Given the description of an element on the screen output the (x, y) to click on. 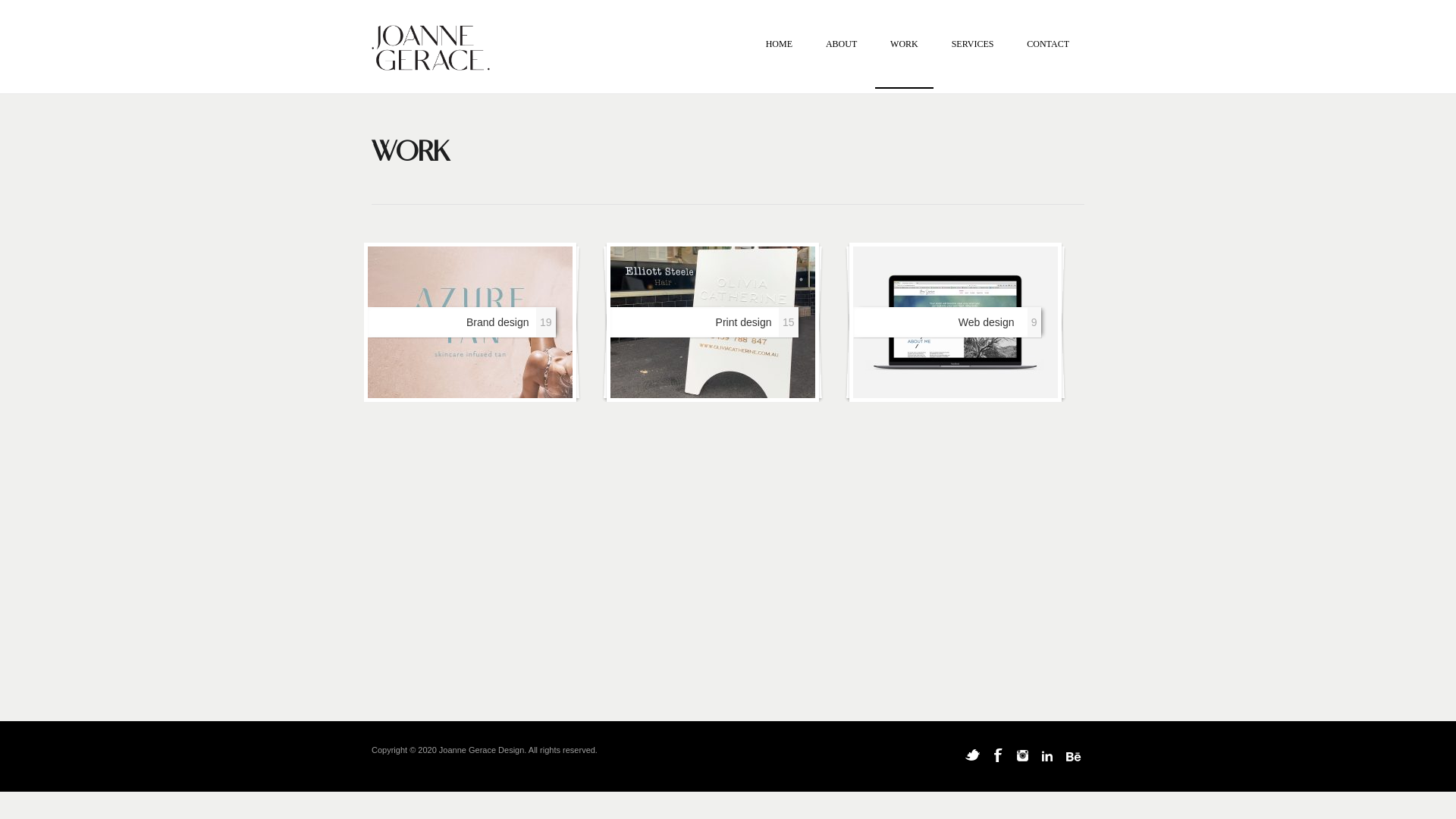
HOME Element type: text (778, 62)
SERVICES Element type: text (972, 62)
www.annaseverino.com.au Element type: hover (955, 322)
Savour Sicily Element type: hover (952, 318)
ABOUT Element type: text (841, 62)
Olivia Catherine A-frame Element type: hover (712, 322)
Azure Tan Element type: hover (469, 322)
Joanne Gerace Design Studio Element type: hover (430, 50)
Wolf Cove Property Styling Element type: hover (710, 318)
All in the Details Element type: hover (467, 318)
WORK Element type: text (904, 62)
CONTACT Element type: text (1047, 62)
